Given the description of an element on the screen output the (x, y) to click on. 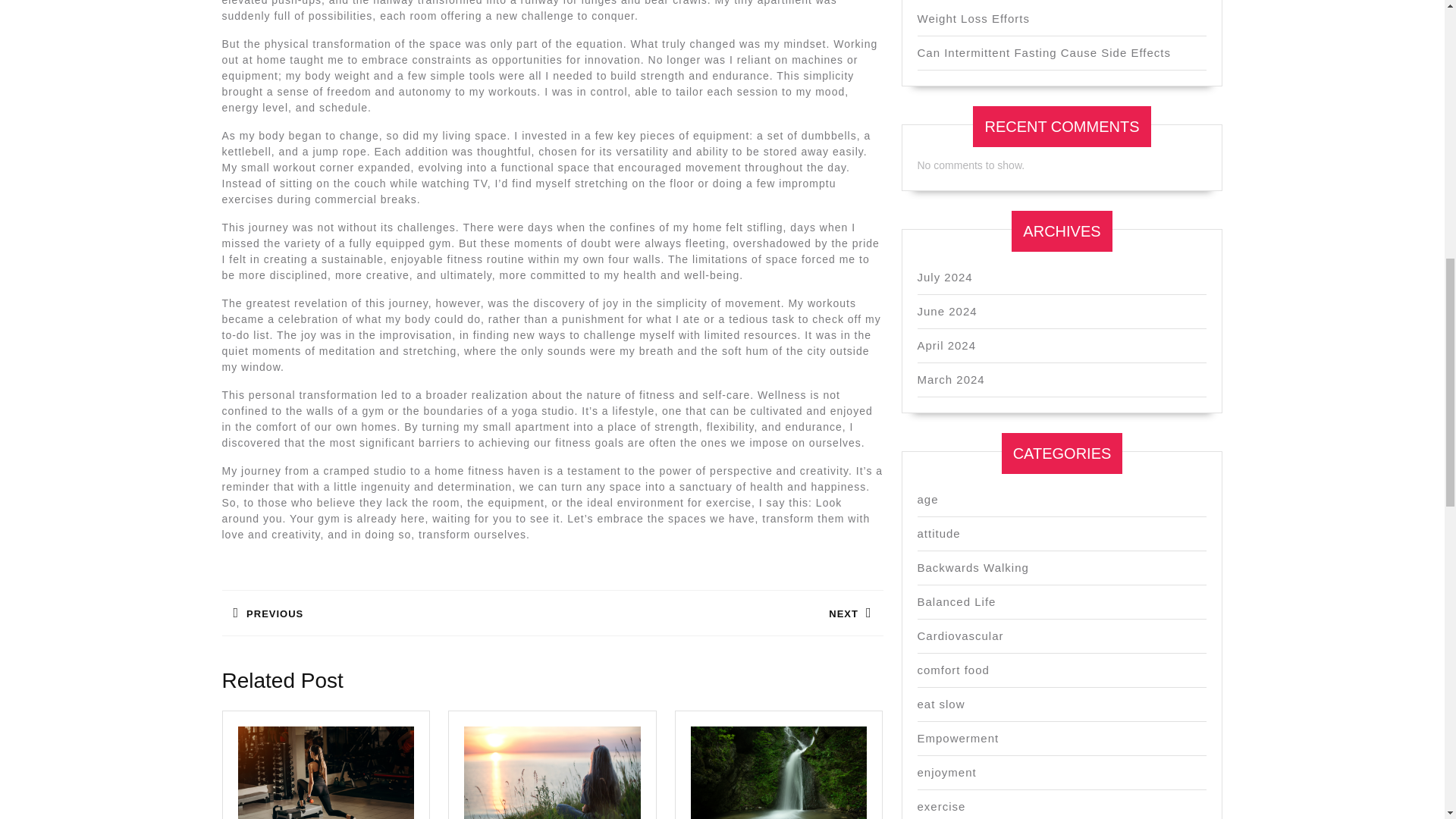
Empowerment (957, 738)
June 2024 (716, 612)
Balanced Life (946, 310)
eat slow (956, 601)
attitude (941, 703)
July 2024 (386, 612)
Cardiovascular (938, 533)
Can Intermittent Fasting Cause Side Effects (944, 277)
